Given the description of an element on the screen output the (x, y) to click on. 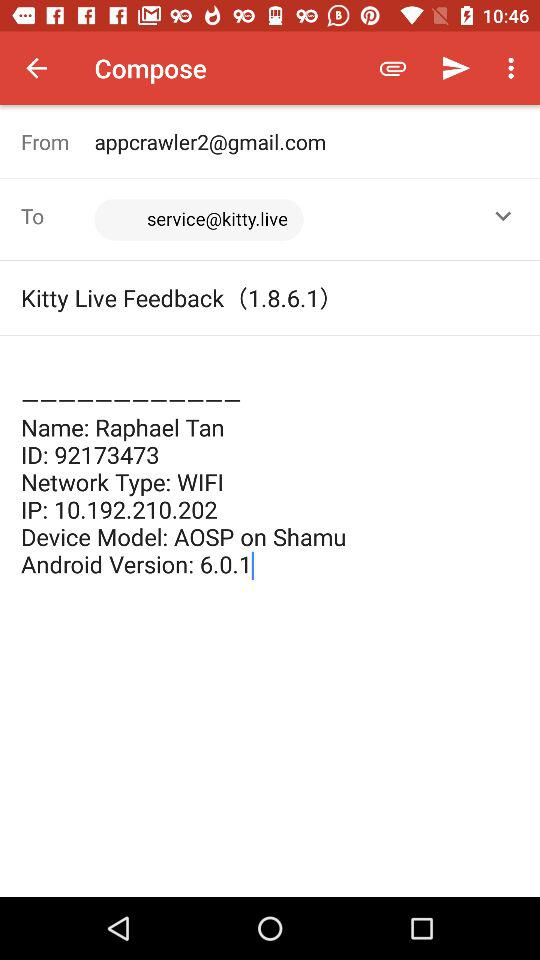
click the from item (57, 141)
